Given the description of an element on the screen output the (x, y) to click on. 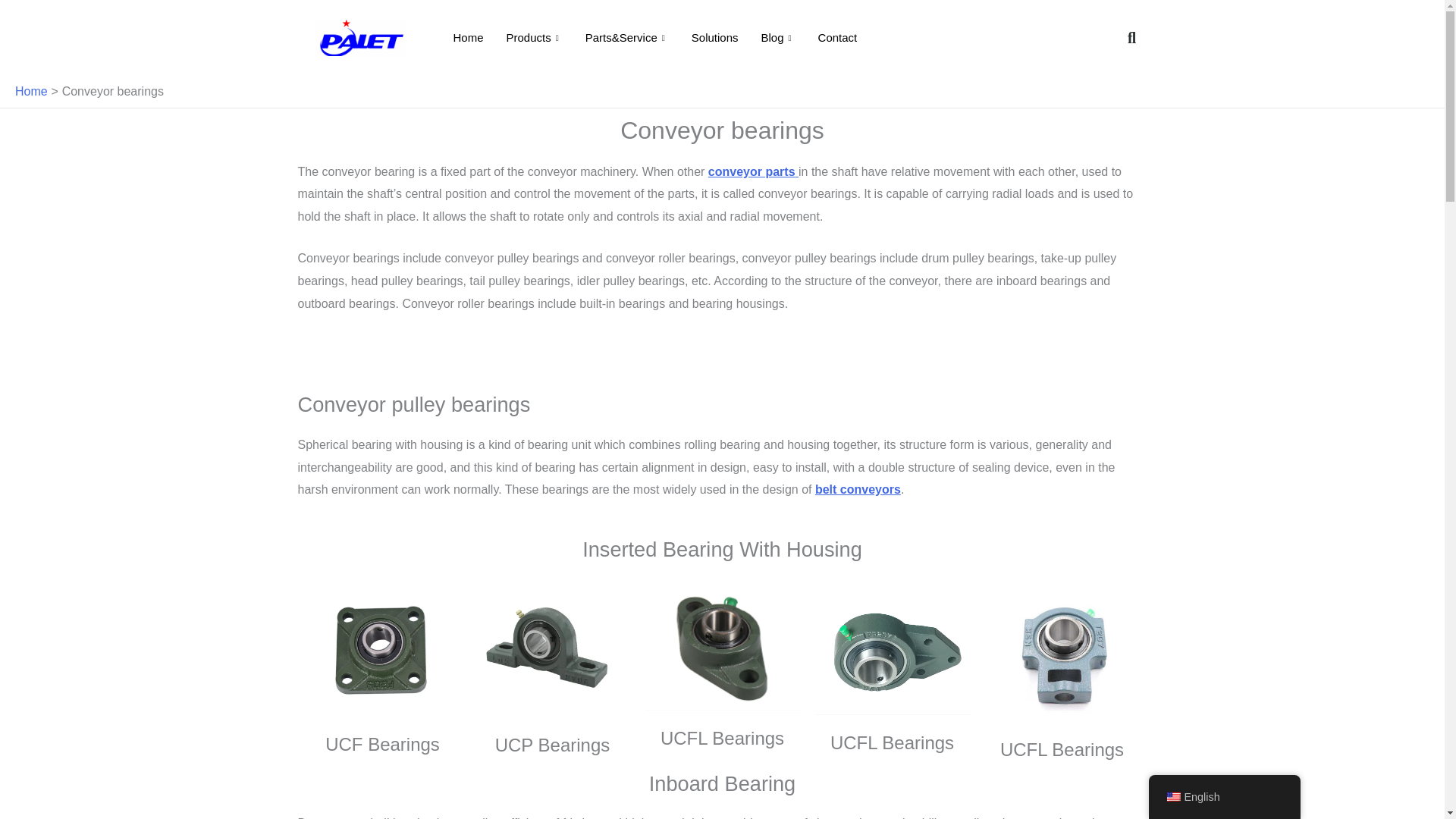
English (1172, 796)
Home (468, 37)
Products (534, 37)
